Given the description of an element on the screen output the (x, y) to click on. 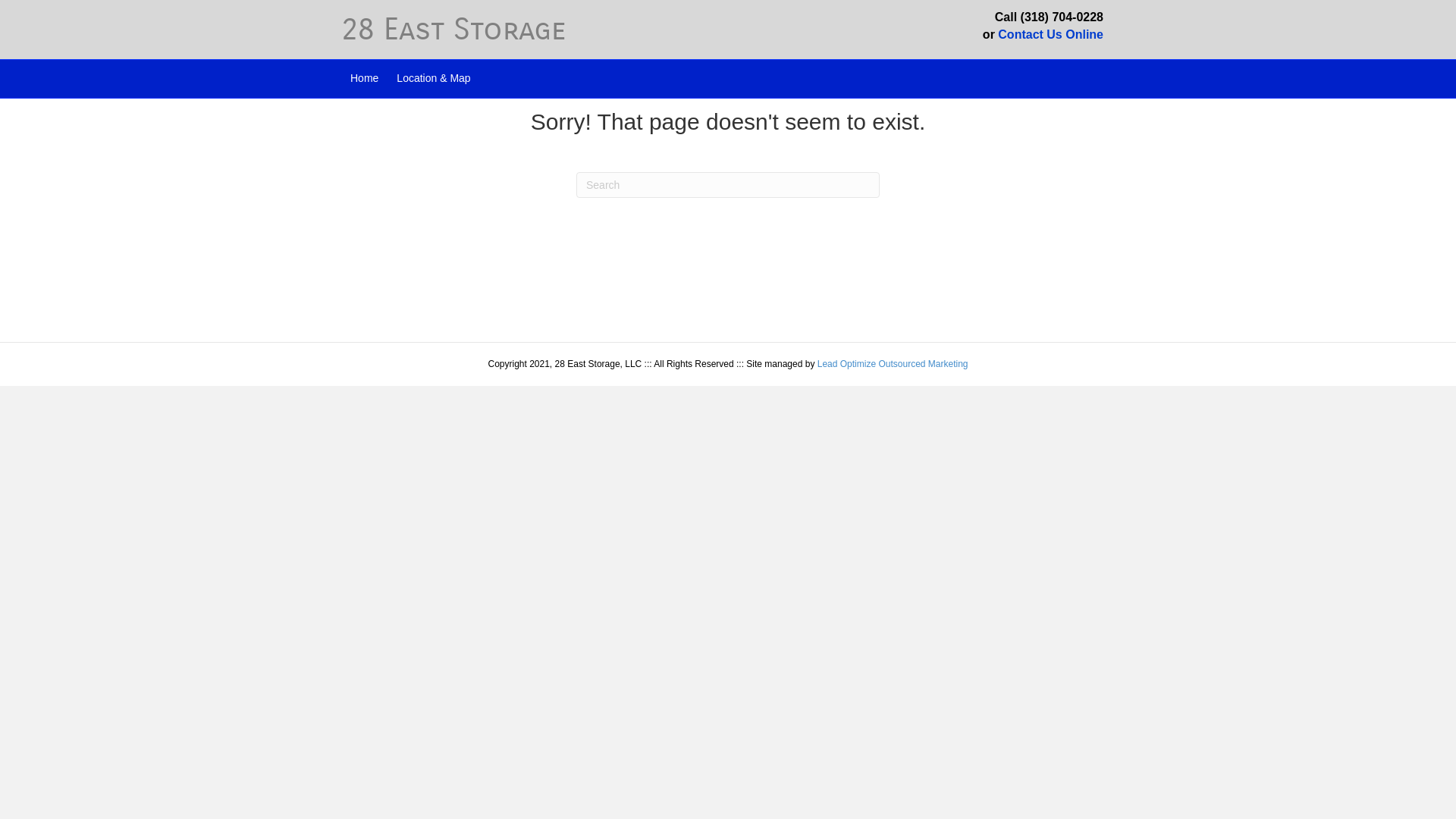
Home Element type: text (364, 78)
Lead Optimize Outsourced Marketing Element type: text (892, 363)
Contact Us Online Element type: text (1050, 34)
Location & Map Element type: text (433, 78)
Type and press Enter to search. Element type: hover (727, 184)
28 East Storage Element type: text (523, 29)
